Given the description of an element on the screen output the (x, y) to click on. 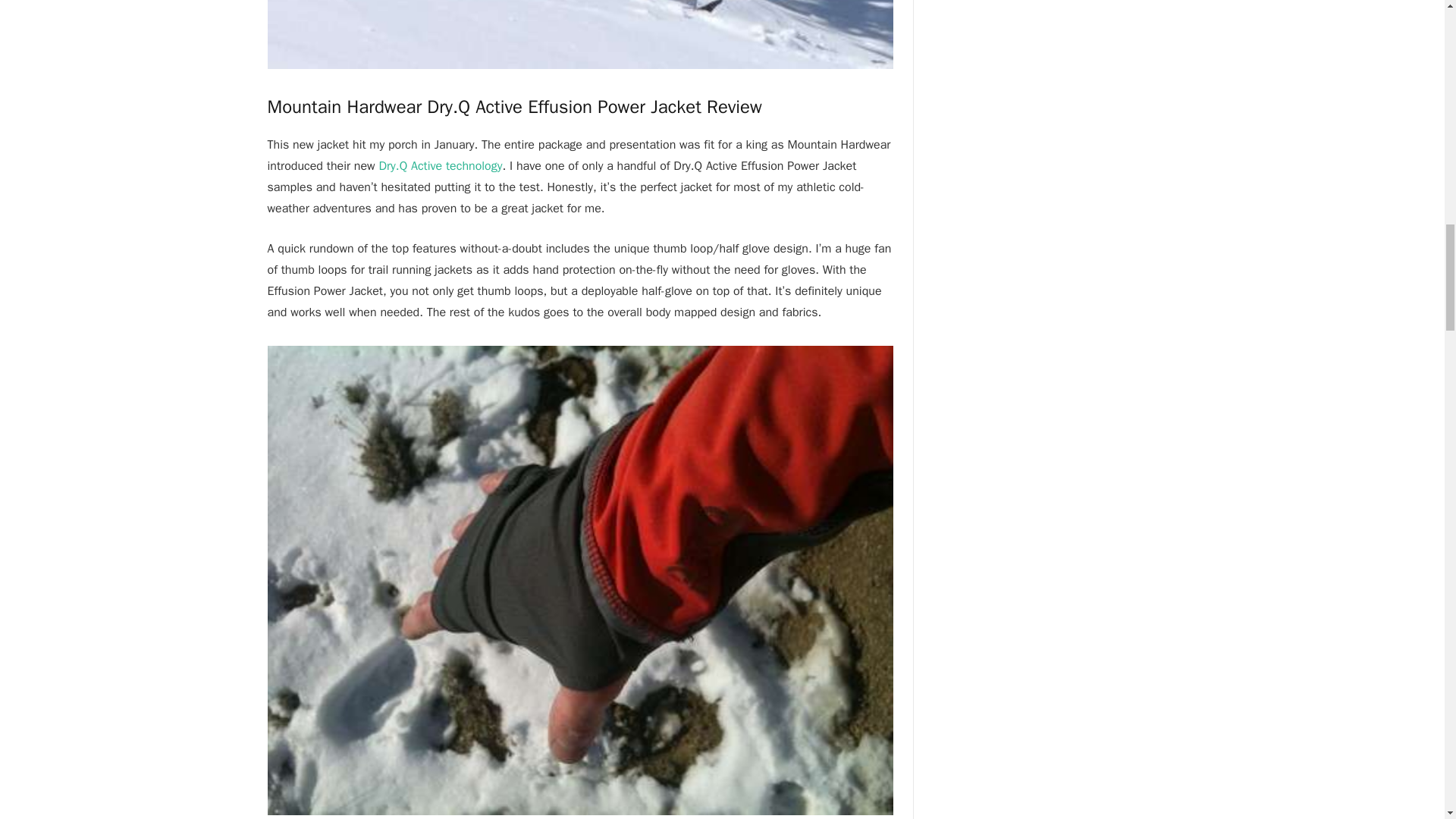
Jason Mitchell - Backcountry Skiing in the Tetons (579, 34)
Dry.Q Active technology (440, 165)
